Given the description of an element on the screen output the (x, y) to click on. 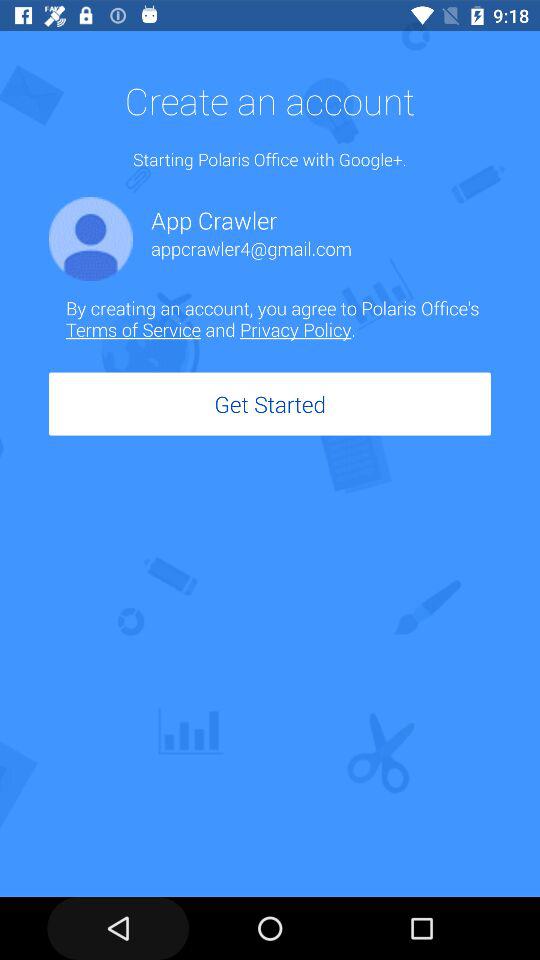
launch the by creating an item (278, 318)
